Given the description of an element on the screen output the (x, y) to click on. 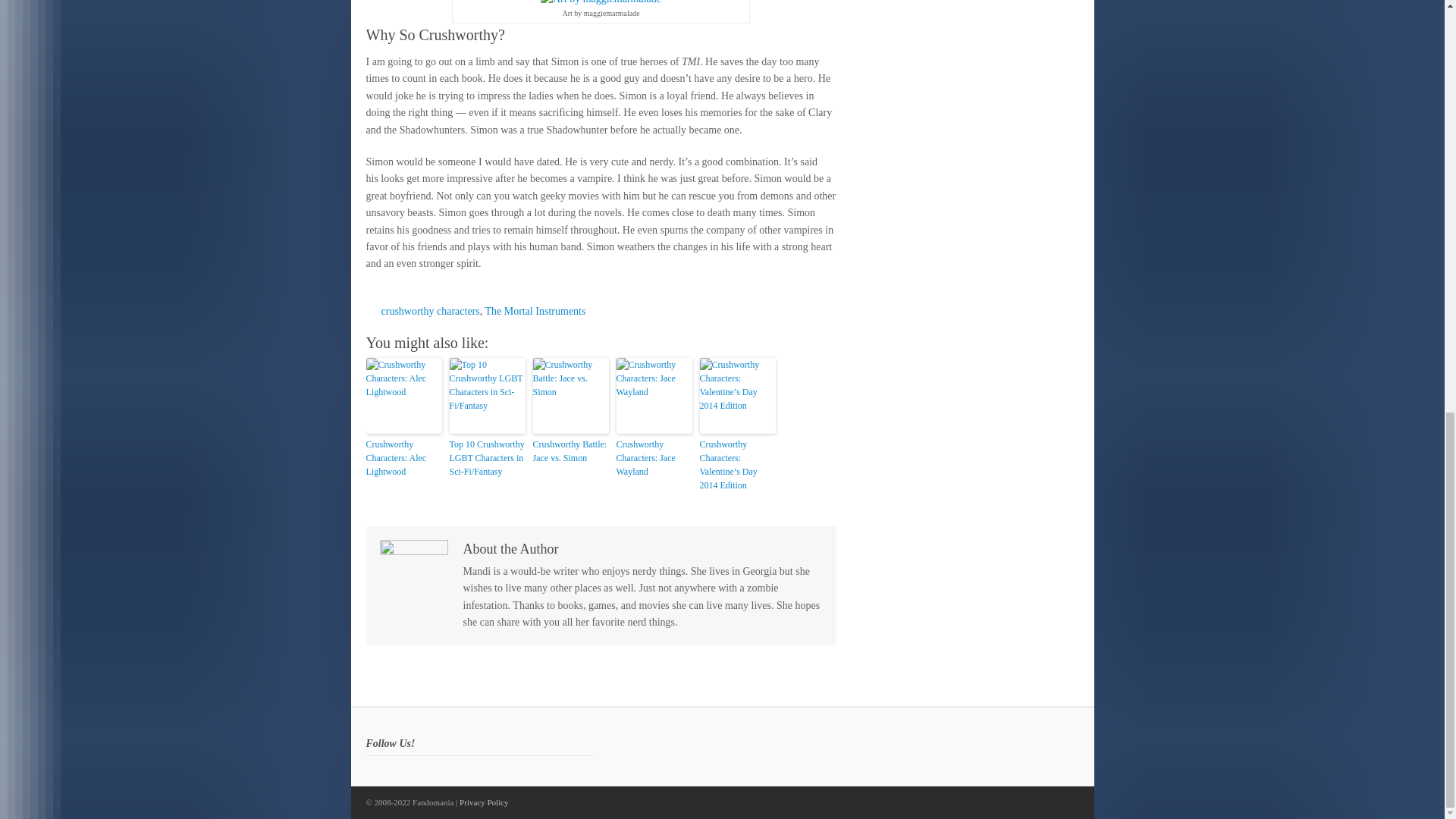
Crushworthy Battle: Jace vs. Simon (570, 451)
Crushworthy Characters: Alec Lightwood (403, 457)
Crushworthy Characters: Jace Wayland (653, 457)
The Mortal Instruments (534, 310)
crushworthy characters (429, 310)
